Given the description of an element on the screen output the (x, y) to click on. 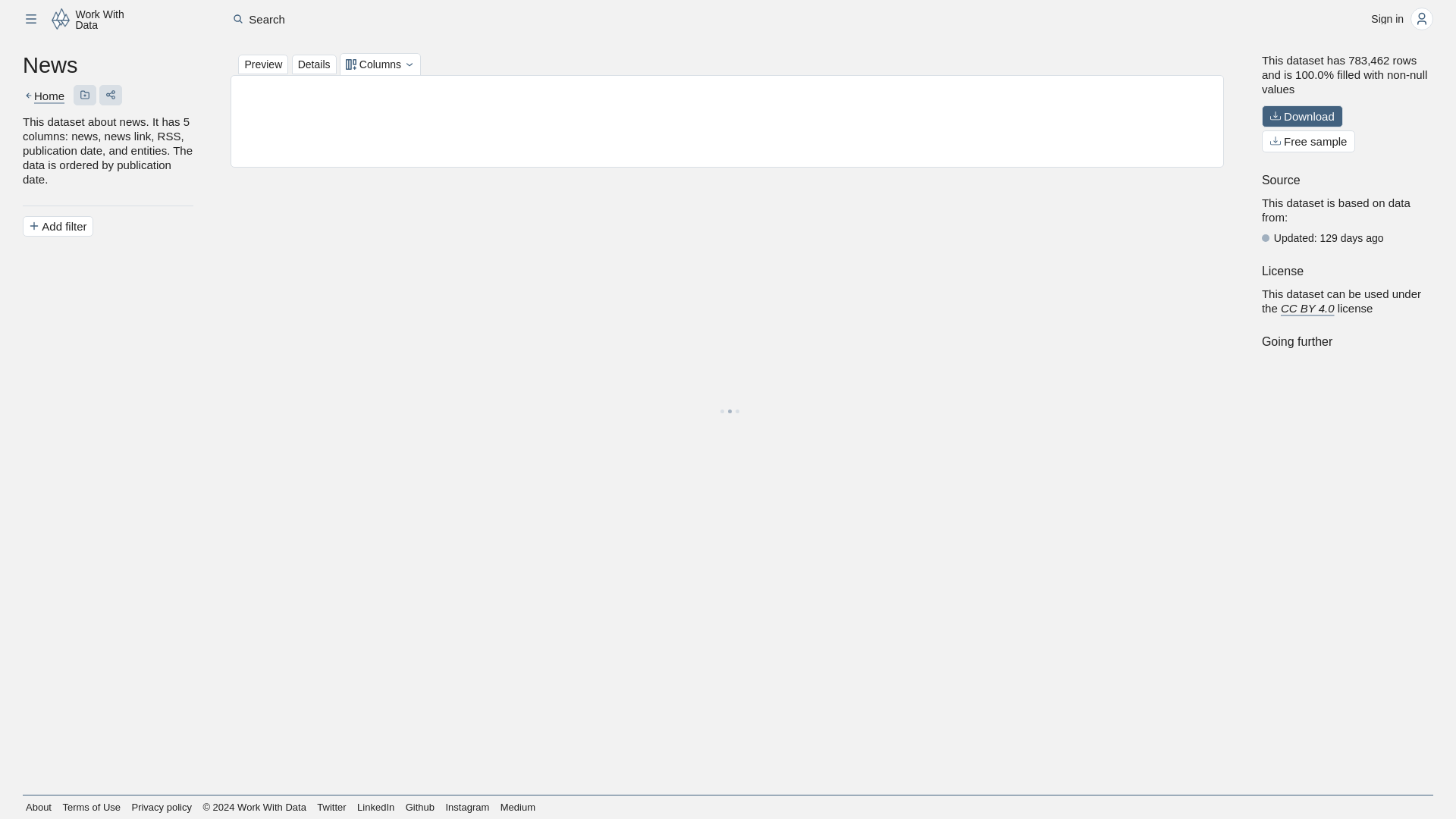
Home (48, 95)
About (39, 806)
Work With Data (90, 17)
LinkedIn (375, 806)
Terms of Use (92, 806)
Medium (518, 806)
Github (421, 806)
Privacy policy (161, 806)
CC BY 4.0 (1308, 308)
Twitter (332, 806)
Instagram (467, 806)
